Given the description of an element on the screen output the (x, y) to click on. 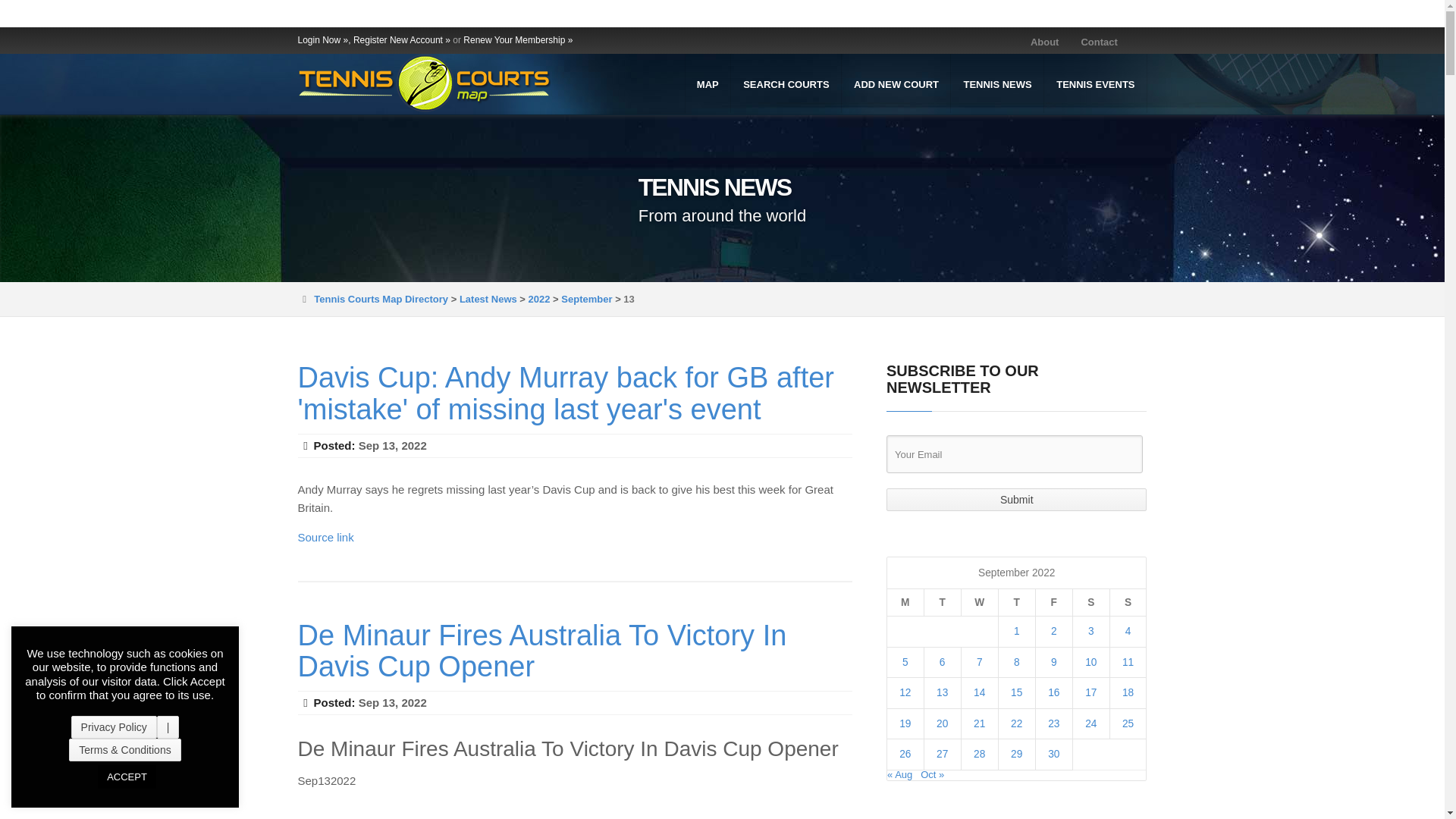
Latest News (488, 298)
Your Email (1014, 453)
Tuesday (941, 602)
Monday (904, 602)
TENNIS NEWS (997, 83)
Tennis Courts Map Directory (381, 298)
TENNIS EVENTS (1096, 83)
De Minaur Fires Australia To Victory In Davis Cup Opener (541, 651)
Submit (1016, 499)
2022 (539, 298)
September (585, 298)
Go to Latest News. (488, 298)
Thursday (1016, 602)
SEARCH COURTS (786, 83)
Saturday (1090, 602)
